Given the description of an element on the screen output the (x, y) to click on. 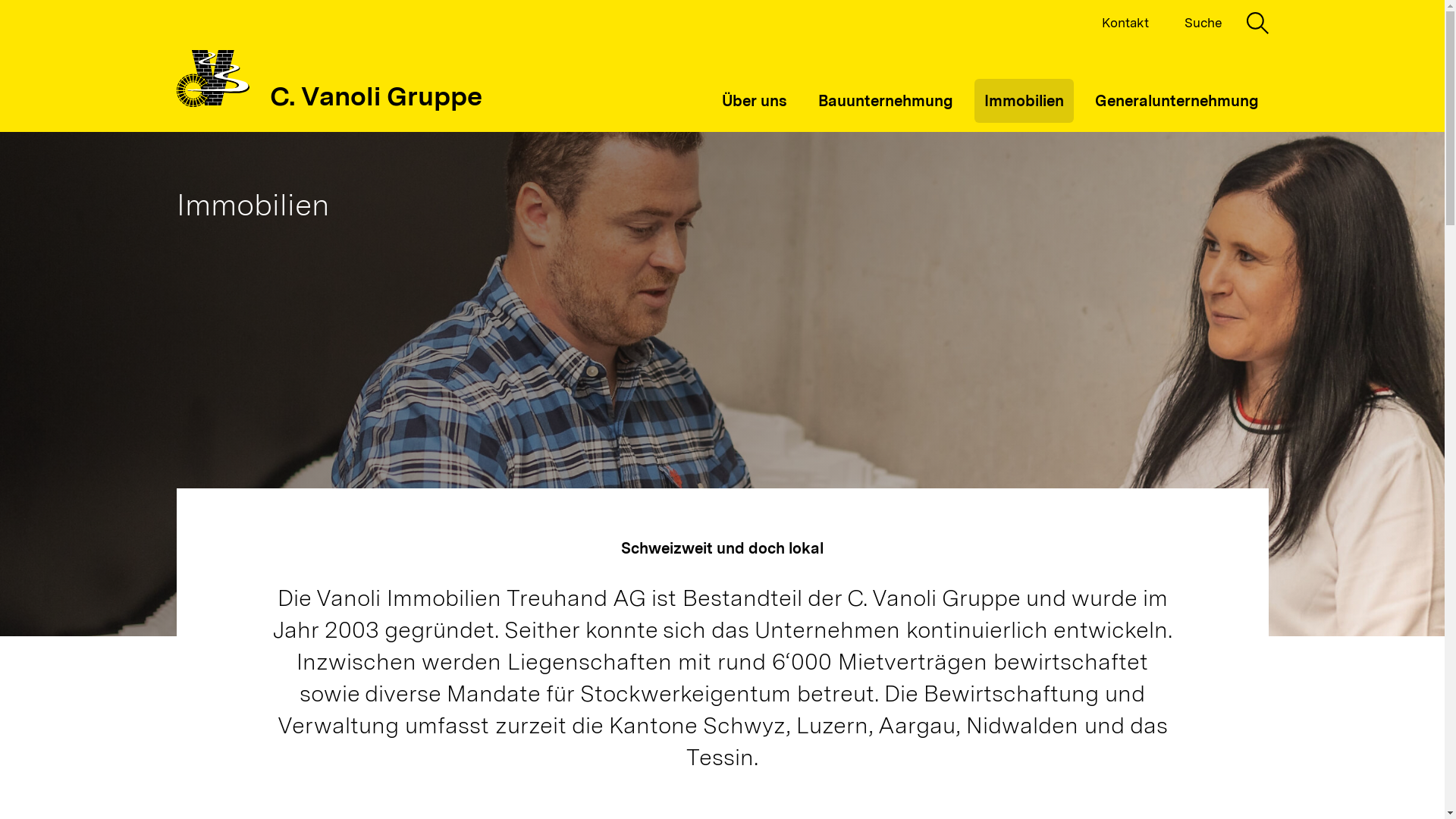
Generalunternehmung Element type: text (1175, 100)
Kontakt Element type: text (1124, 22)
Immobilien Element type: text (1023, 100)
Suche Element type: text (1226, 23)
Bauunternehmung Element type: text (885, 100)
C. Vanoli Gruppe Element type: text (328, 67)
GO Element type: text (209, 409)
